Given the description of an element on the screen output the (x, y) to click on. 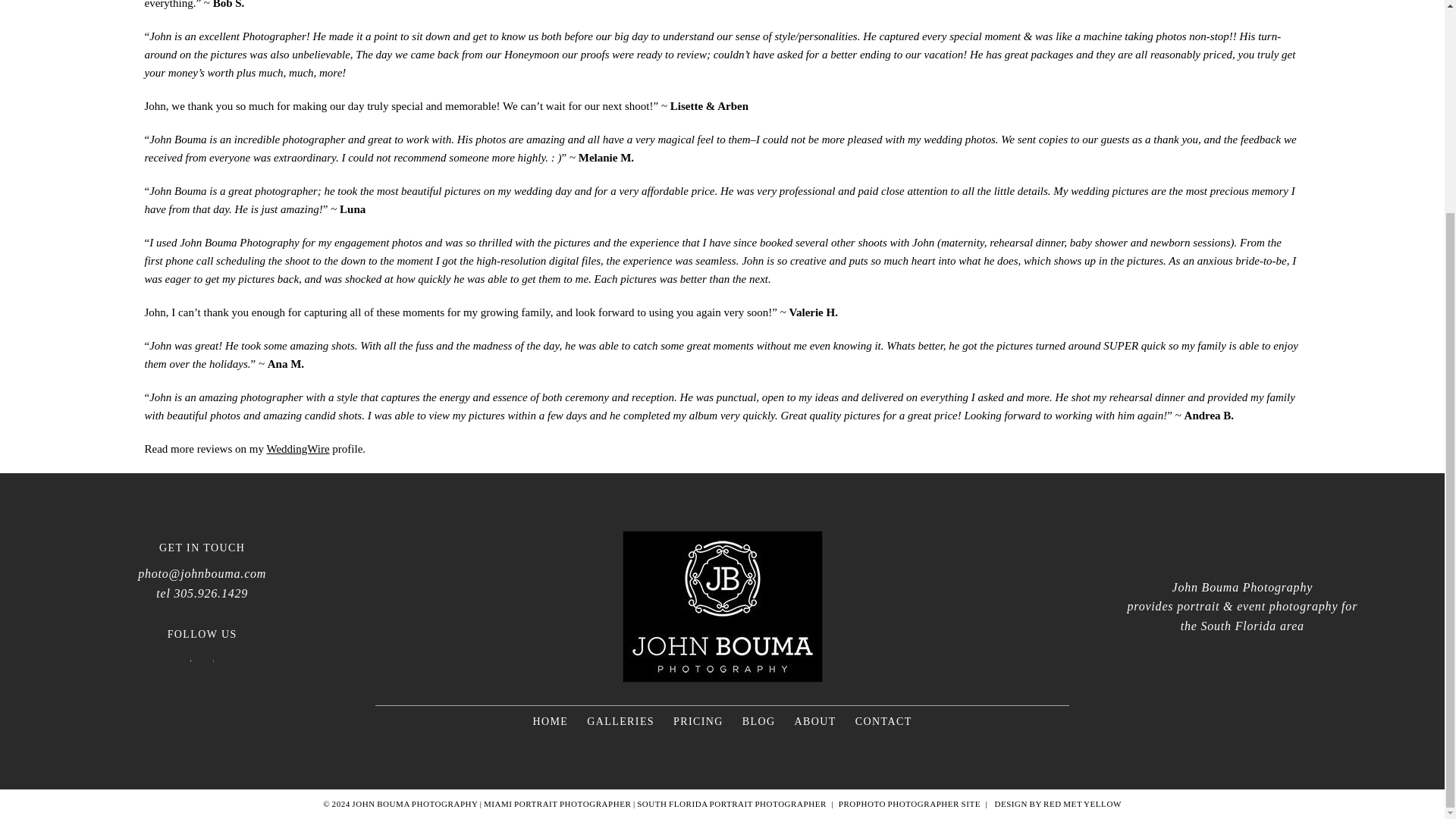
RED MET YELLOW (1082, 803)
I (213, 661)
BLOG (759, 721)
PRICING (697, 721)
ABOUT (814, 721)
PROPHOTO PHOTOGRAPHER SITE (908, 803)
ProPhoto8 WordPress Theme (908, 803)
CONTACT (884, 721)
HOME (549, 721)
WeddingWire (297, 449)
F (190, 661)
